Given the description of an element on the screen output the (x, y) to click on. 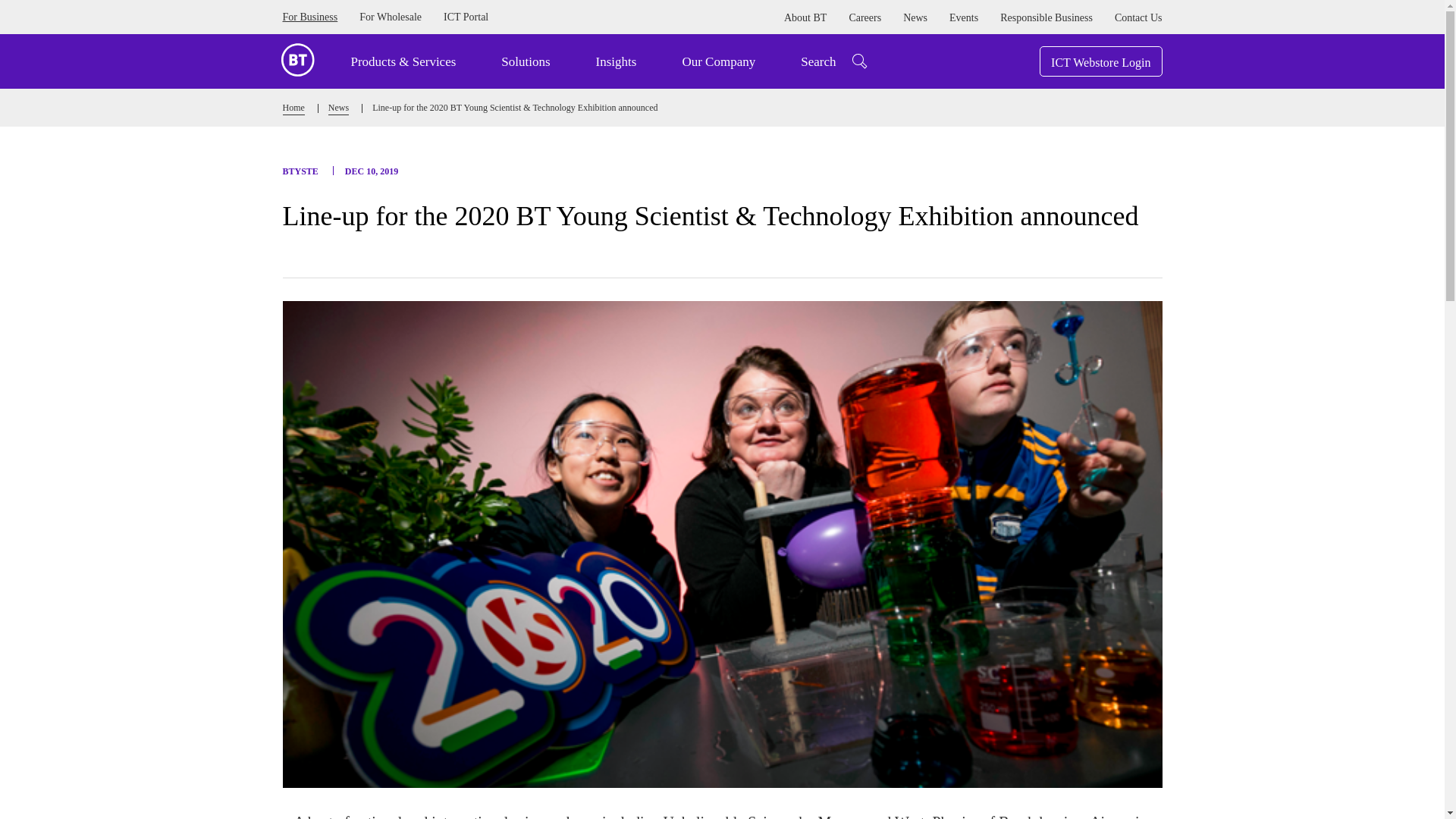
Careers (864, 17)
ICT Webstore Login (1100, 60)
Home (293, 108)
News (914, 17)
Events (963, 17)
About BT (805, 17)
Contact Us (1138, 17)
For Wholesale (390, 16)
For Business (309, 16)
Responsible Business (1046, 17)
ICT Portal (465, 16)
Our Company (718, 61)
BT Ireland (297, 58)
